Given the description of an element on the screen output the (x, y) to click on. 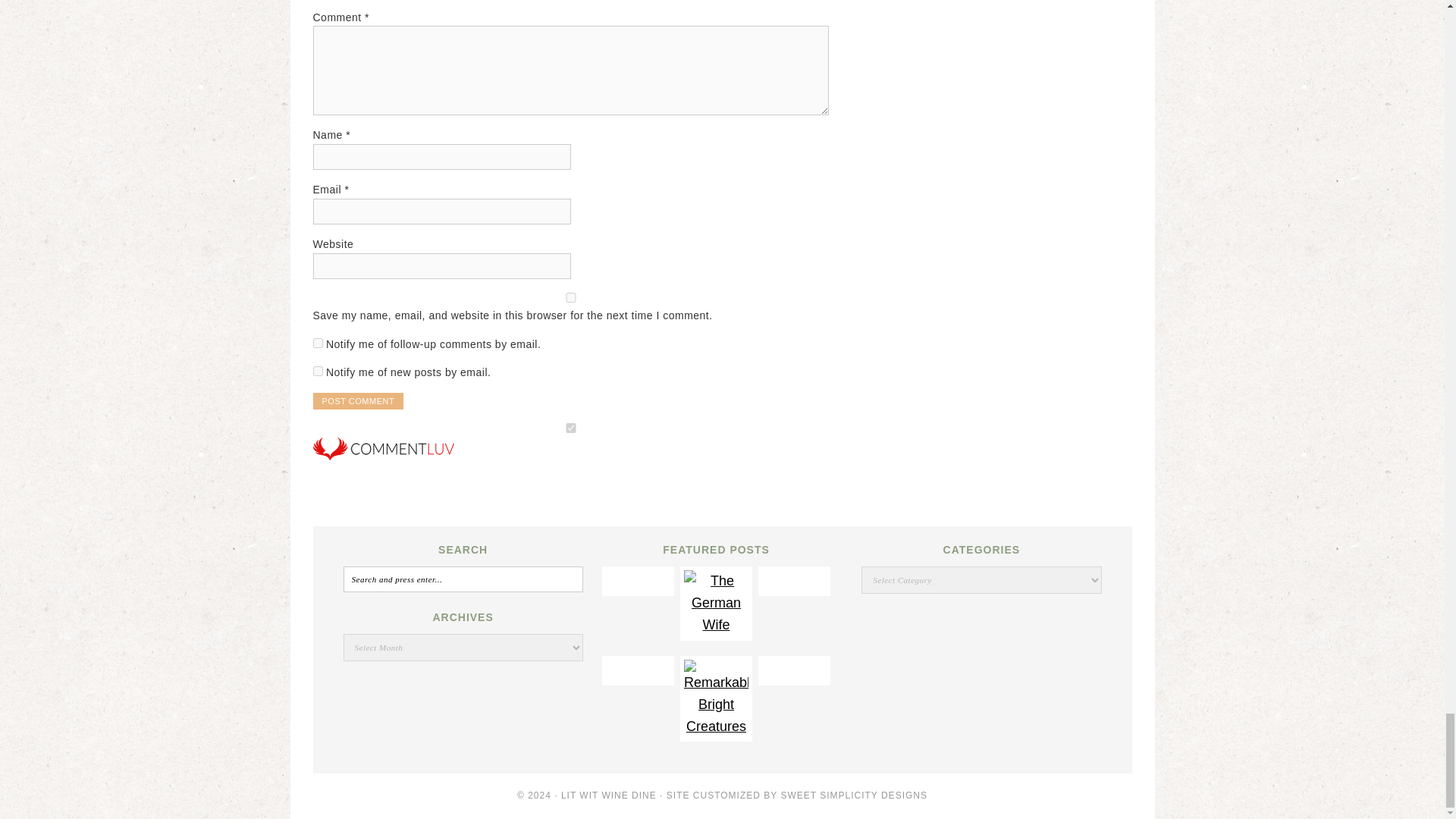
Blog Tour: The German Wife by Kelly Rimmer (716, 624)
Sweet Simplicity Designs (853, 795)
on (570, 428)
subscribe (317, 370)
Review: Remarkably Bright Creatures by Shelby Van Pelt (716, 726)
Post Comment (358, 401)
yes (570, 297)
subscribe (317, 343)
